Given the description of an element on the screen output the (x, y) to click on. 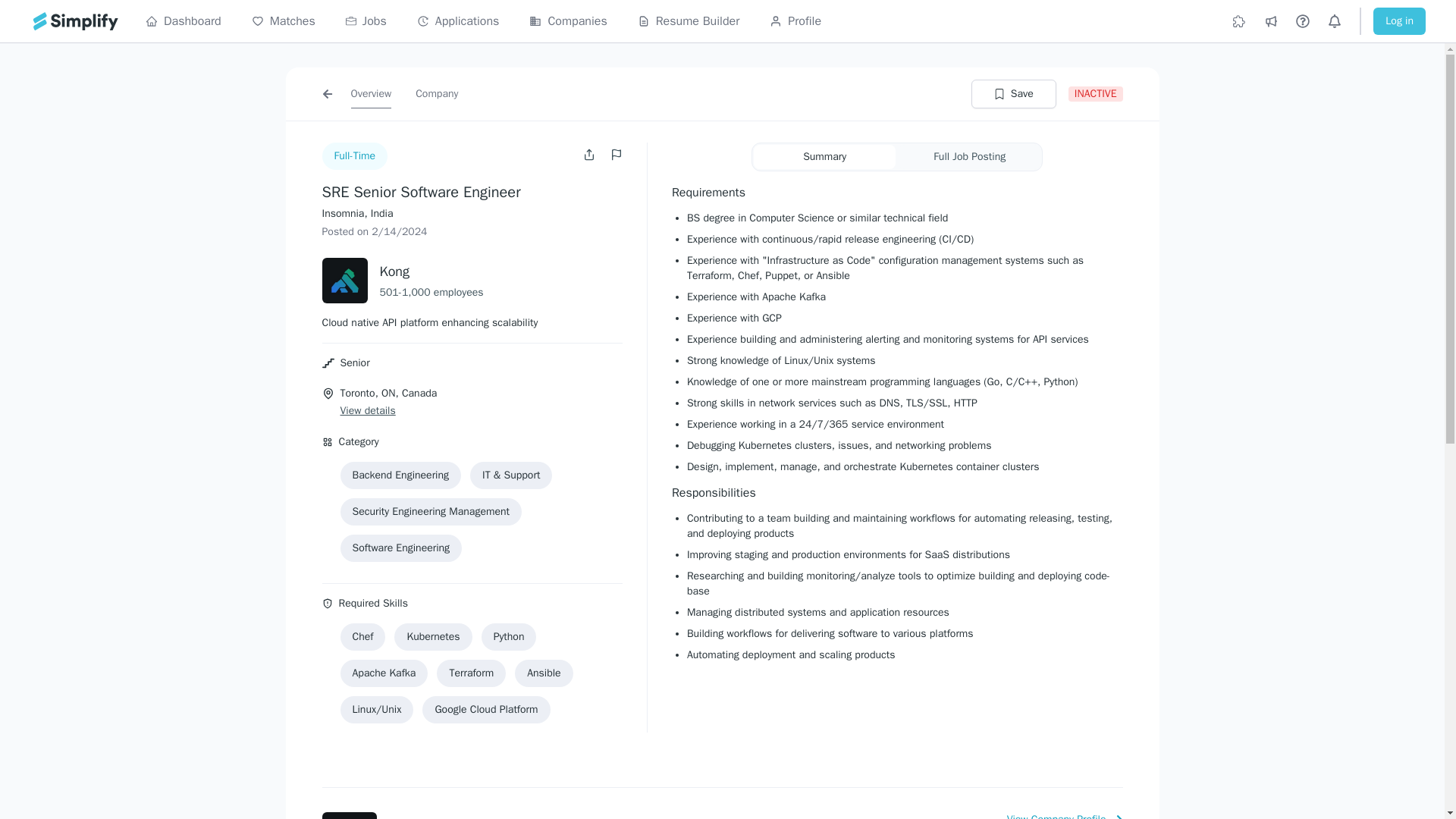
Jobs (366, 21)
Summary (824, 156)
Log in (1399, 21)
Full Job Posting (969, 156)
Overview (370, 93)
Dashboard (183, 21)
Profile (795, 21)
Companies (568, 21)
Applications (457, 21)
View details (366, 410)
Save (1014, 93)
Company (436, 93)
Resume Builder (688, 21)
Open user menu (590, 154)
Matches (283, 21)
